Given the description of an element on the screen output the (x, y) to click on. 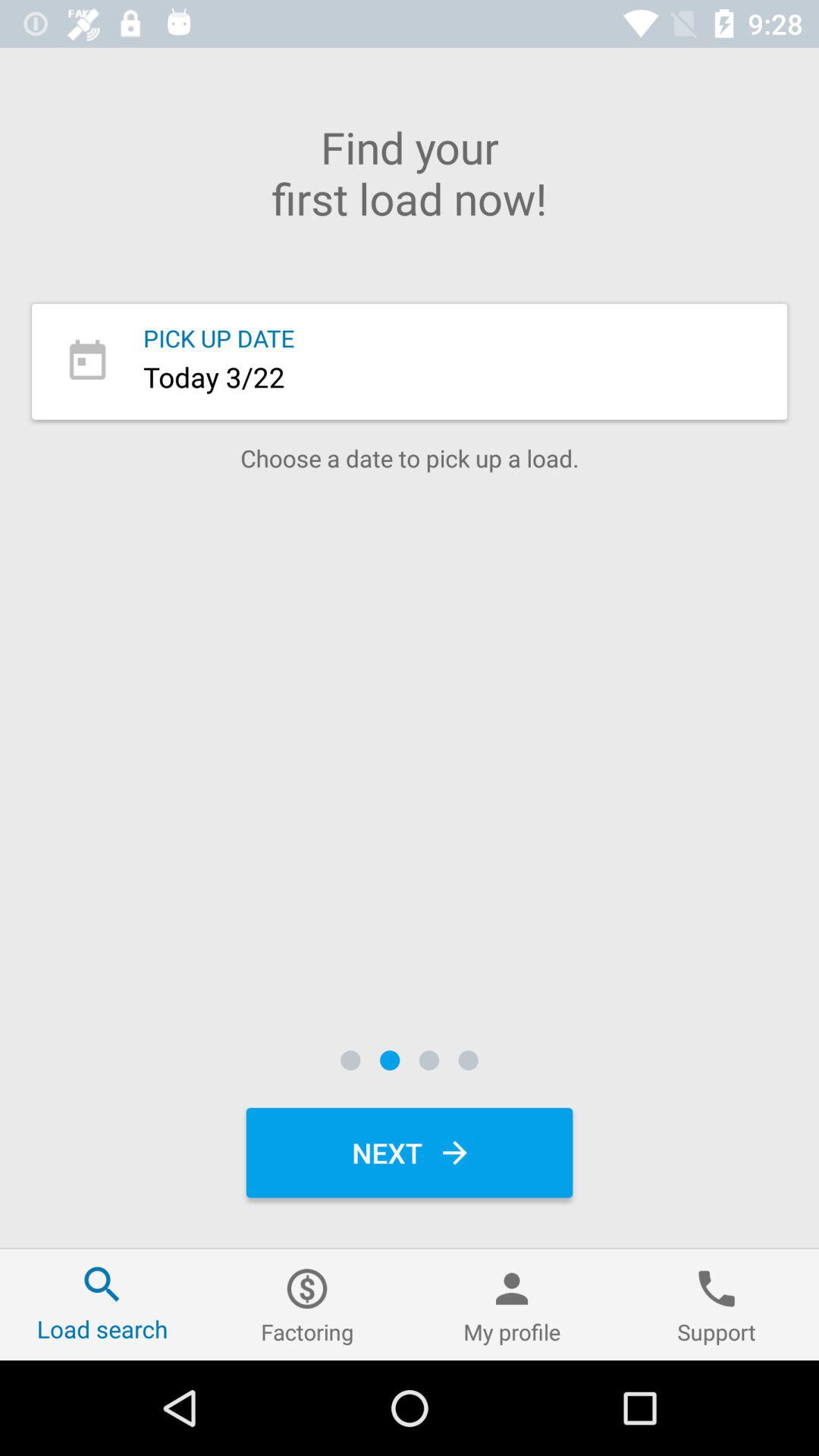
choose the icon next to my profile icon (716, 1304)
